Given the description of an element on the screen output the (x, y) to click on. 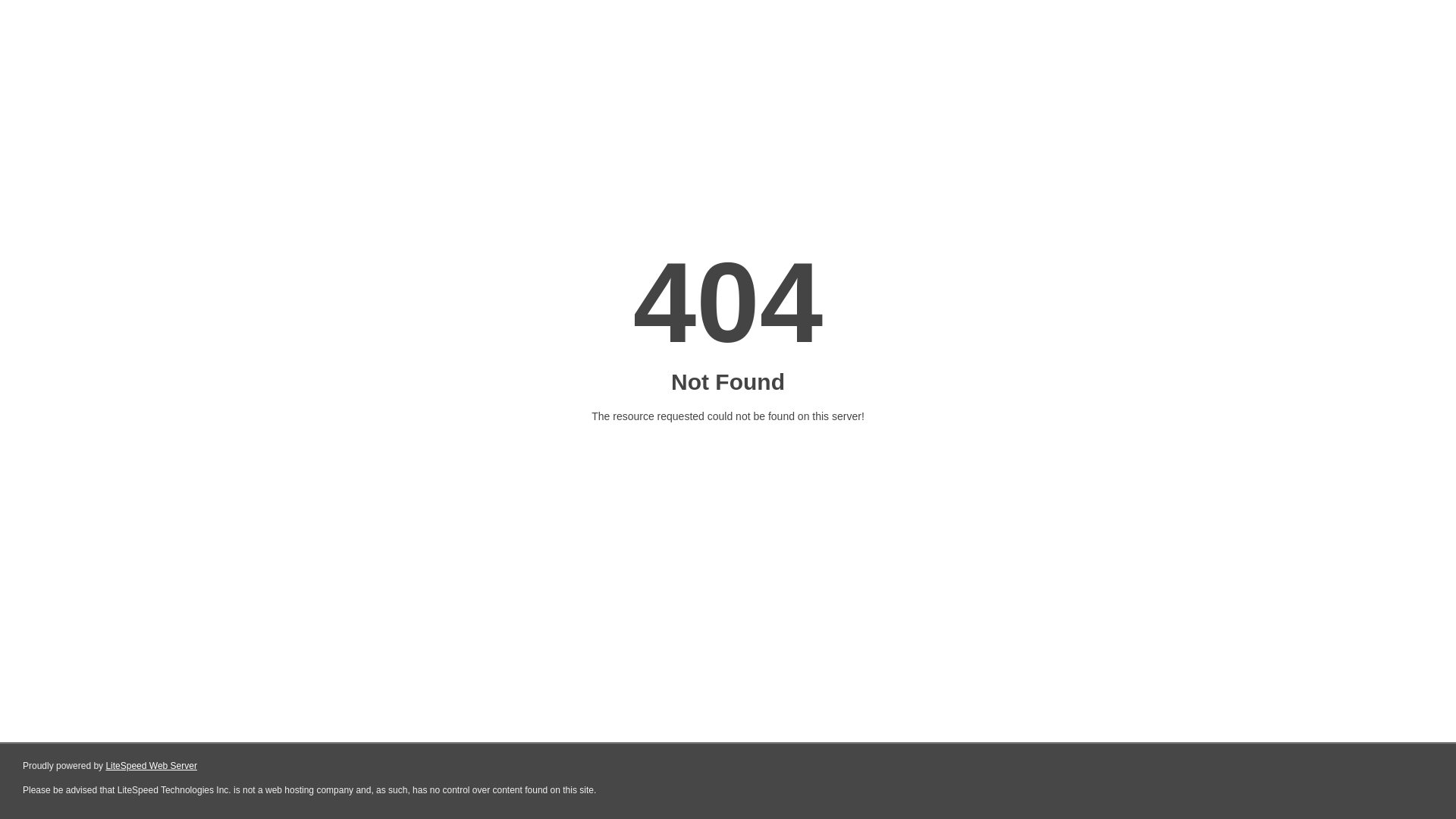
LiteSpeed Web Server (150, 765)
